Given the description of an element on the screen output the (x, y) to click on. 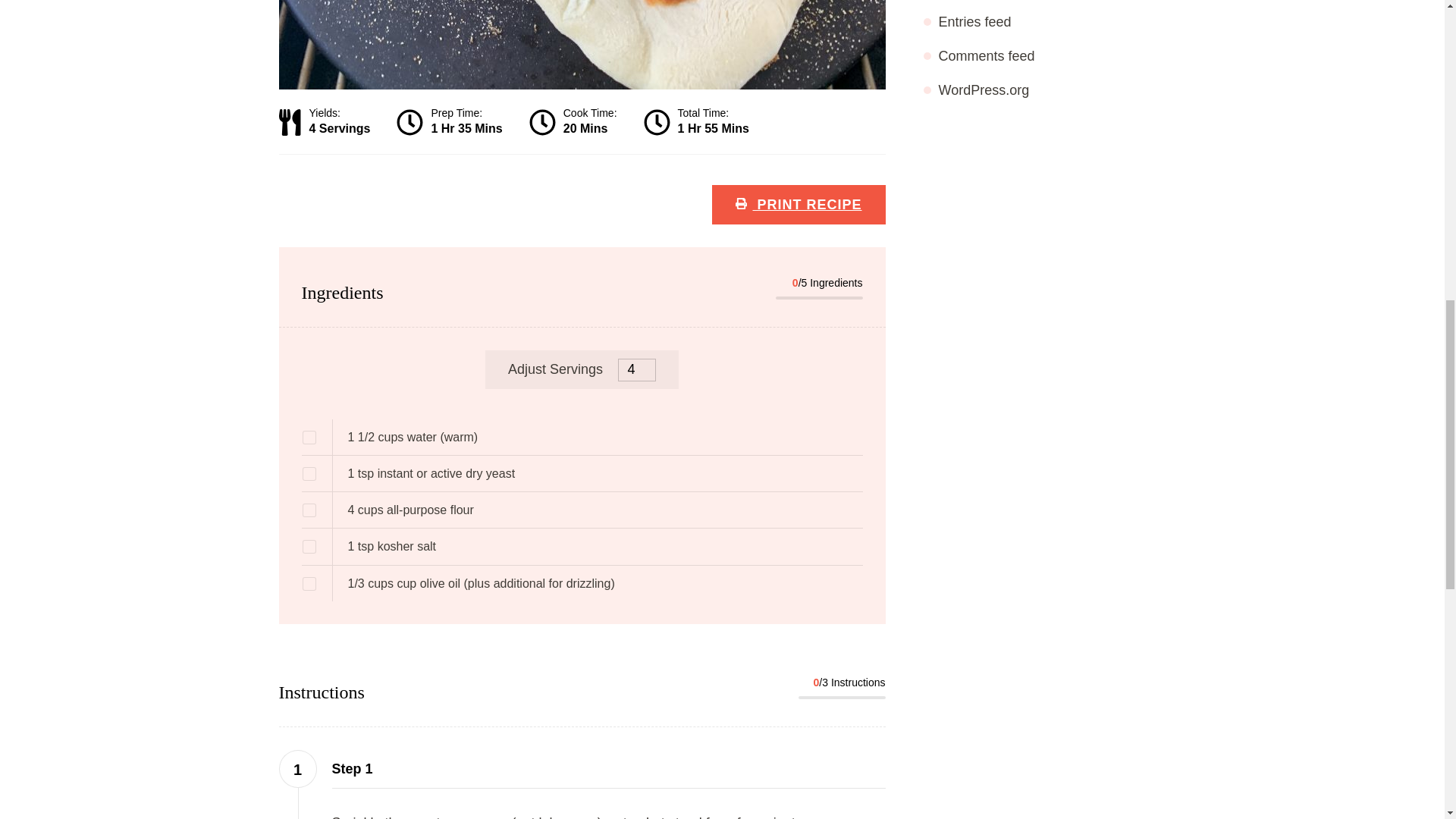
4 (636, 369)
PRINT RECIPE (798, 205)
Entries feed (975, 20)
Comments feed (987, 55)
WordPress.org (984, 89)
